Given the description of an element on the screen output the (x, y) to click on. 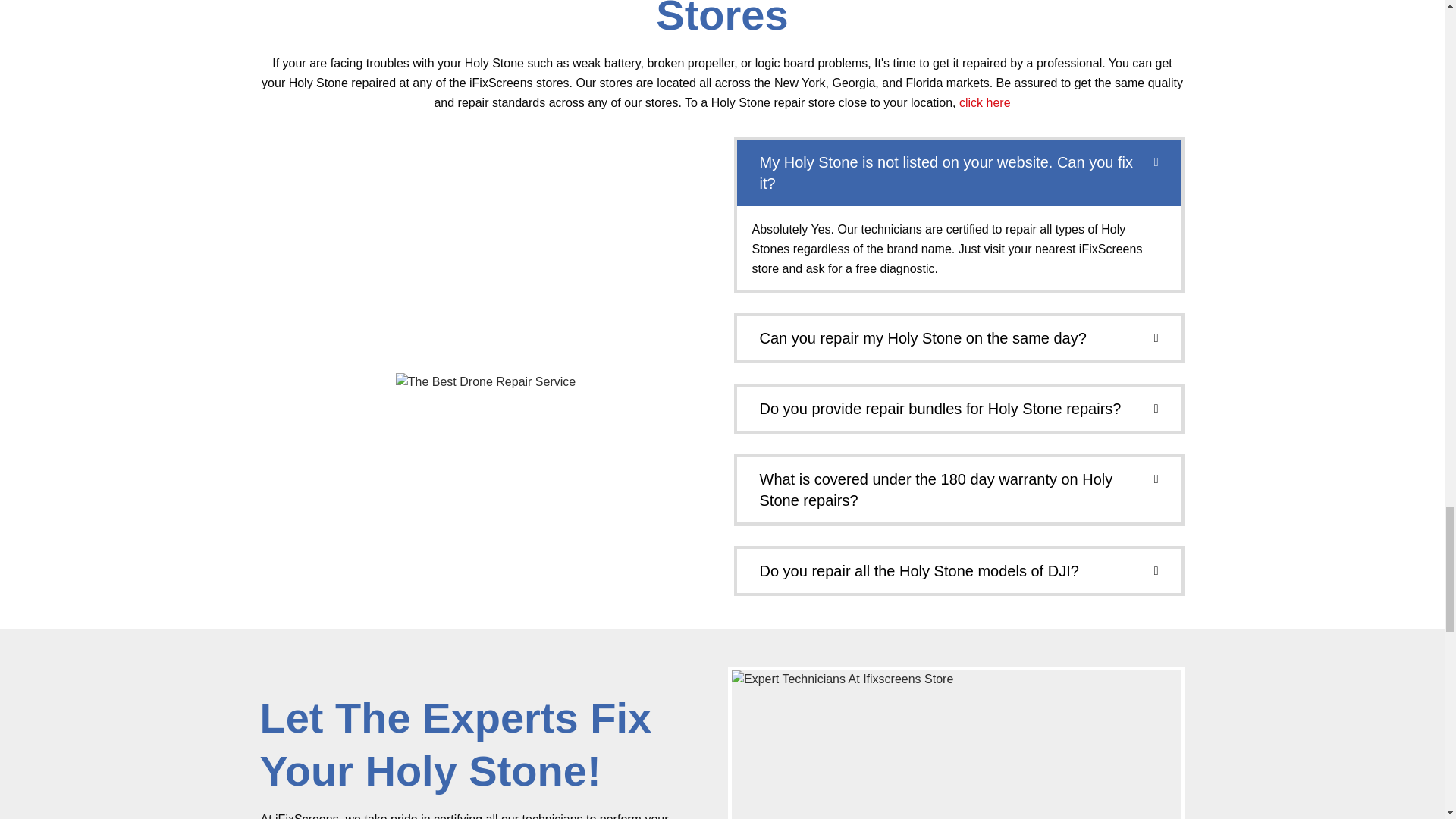
The Best Drone Repair Service (485, 382)
Expert Technicians (956, 744)
